Given the description of an element on the screen output the (x, y) to click on. 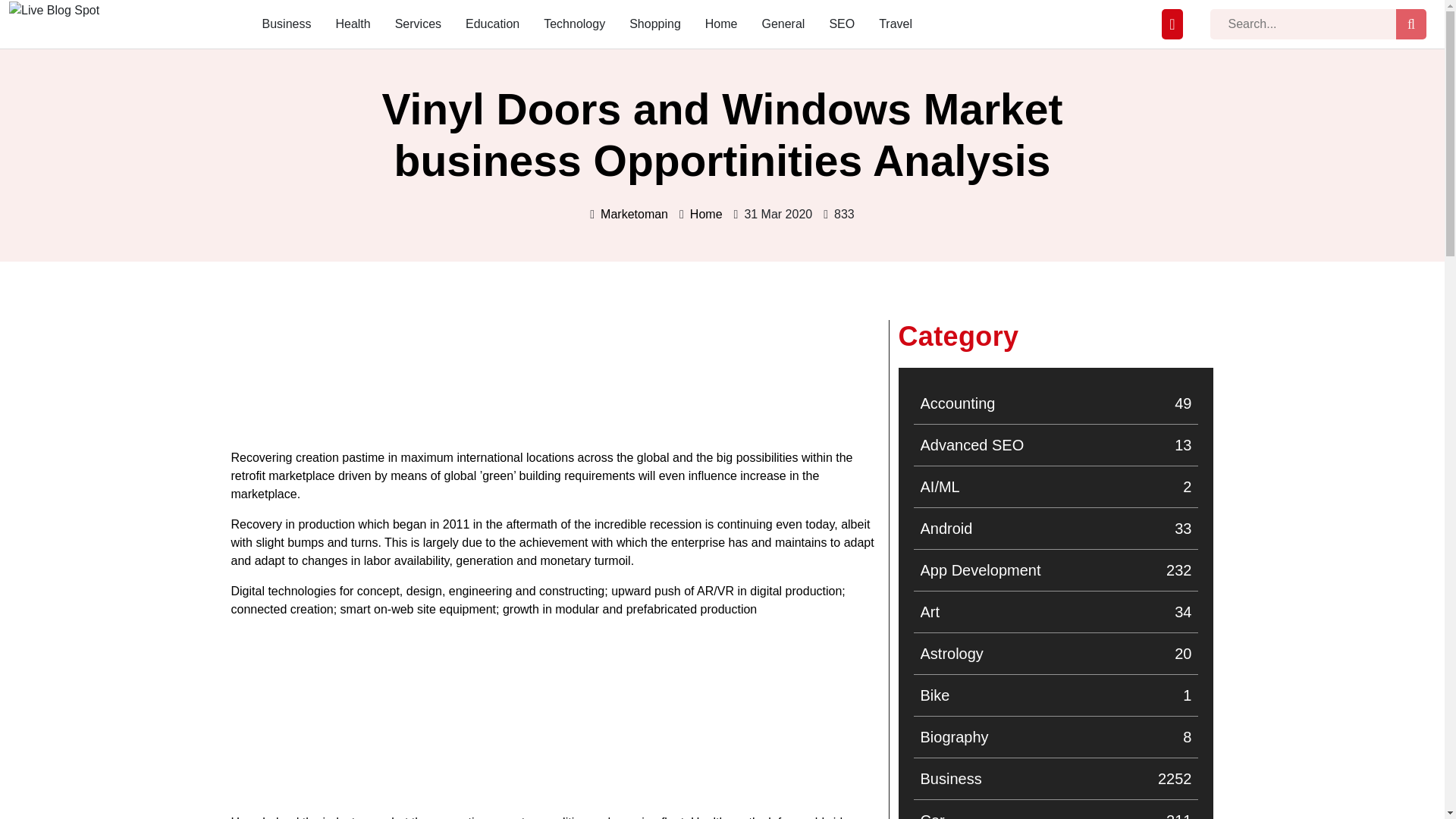
Live Blog Spot (53, 30)
Technology (574, 24)
Marketoman (1056, 527)
Shopping (633, 214)
Home (654, 24)
Live Blog Spot (706, 214)
Posts by Marketoman (1056, 736)
